Given the description of an element on the screen output the (x, y) to click on. 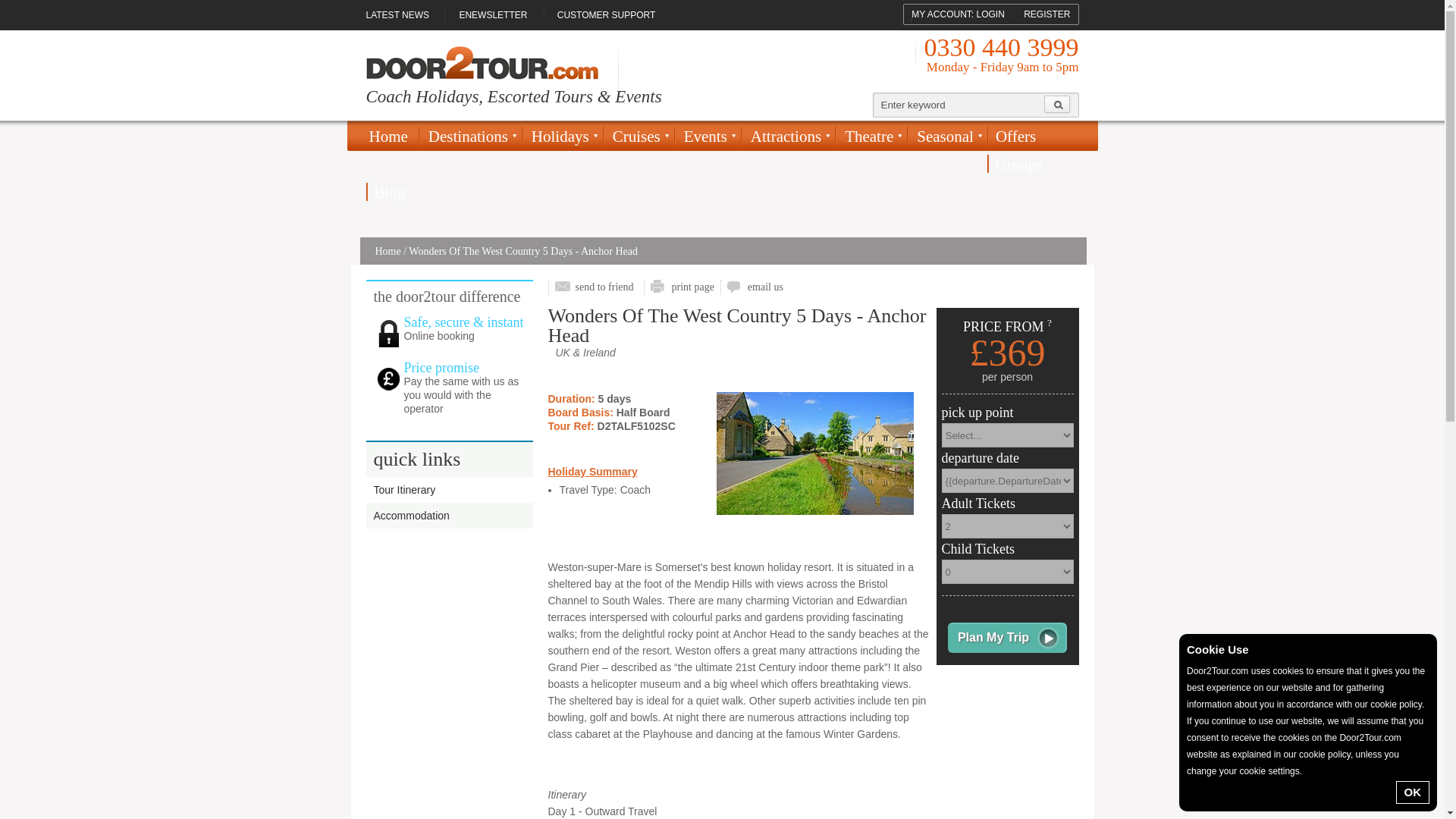
Holidays (561, 139)
Safe (387, 333)
Destinations (470, 139)
Price (387, 379)
LATEST NEWS (403, 15)
CUSTOMER SUPPORT (606, 15)
REGISTER (1046, 14)
Door 2 Tour (480, 62)
LOGIN (989, 14)
ENEWSLETTER (492, 15)
Enter keyword (958, 104)
Home (391, 135)
